Given the description of an element on the screen output the (x, y) to click on. 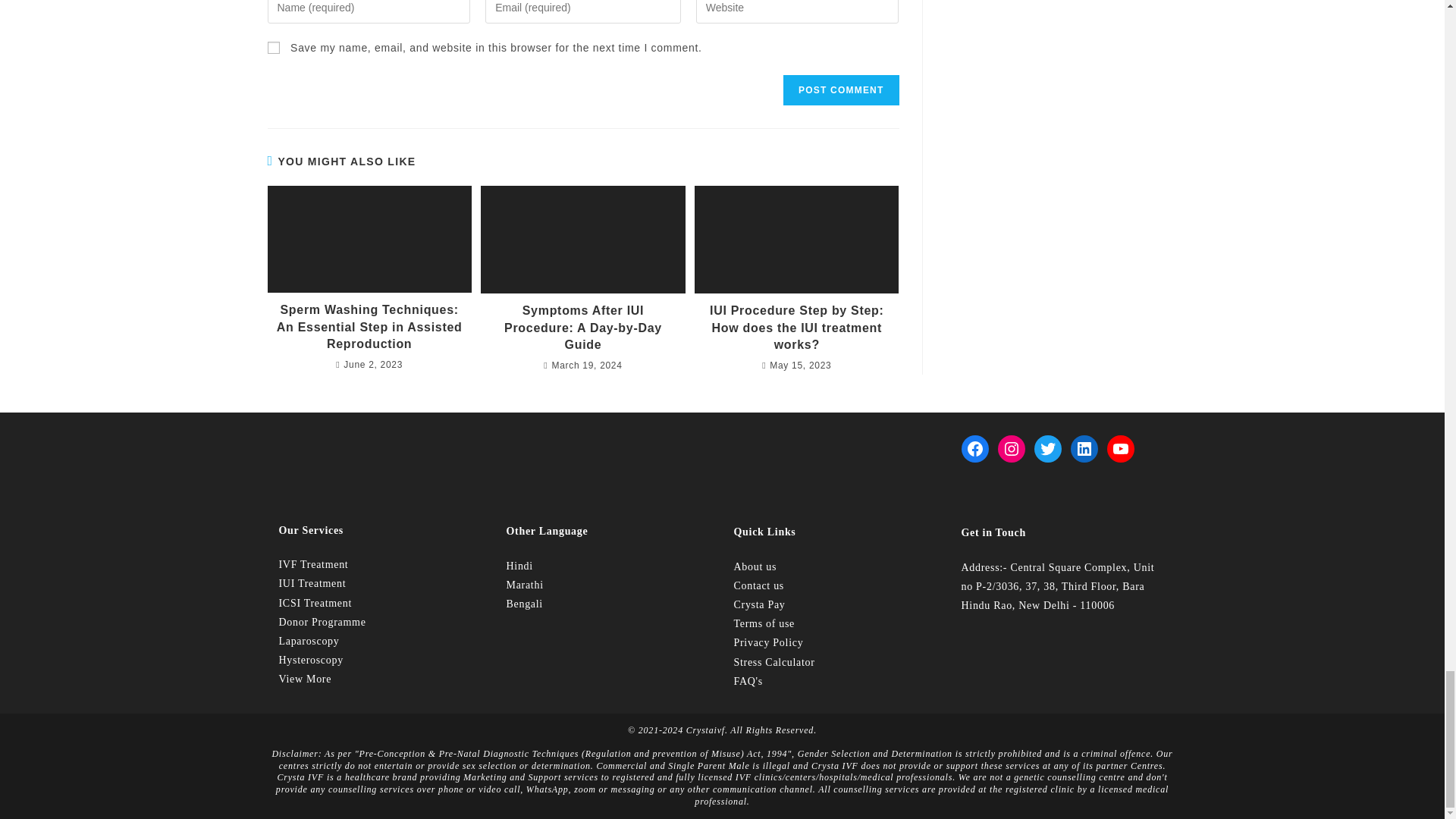
IVF Treatment (314, 564)
yes (272, 47)
Post Comment (840, 90)
